Given the description of an element on the screen output the (x, y) to click on. 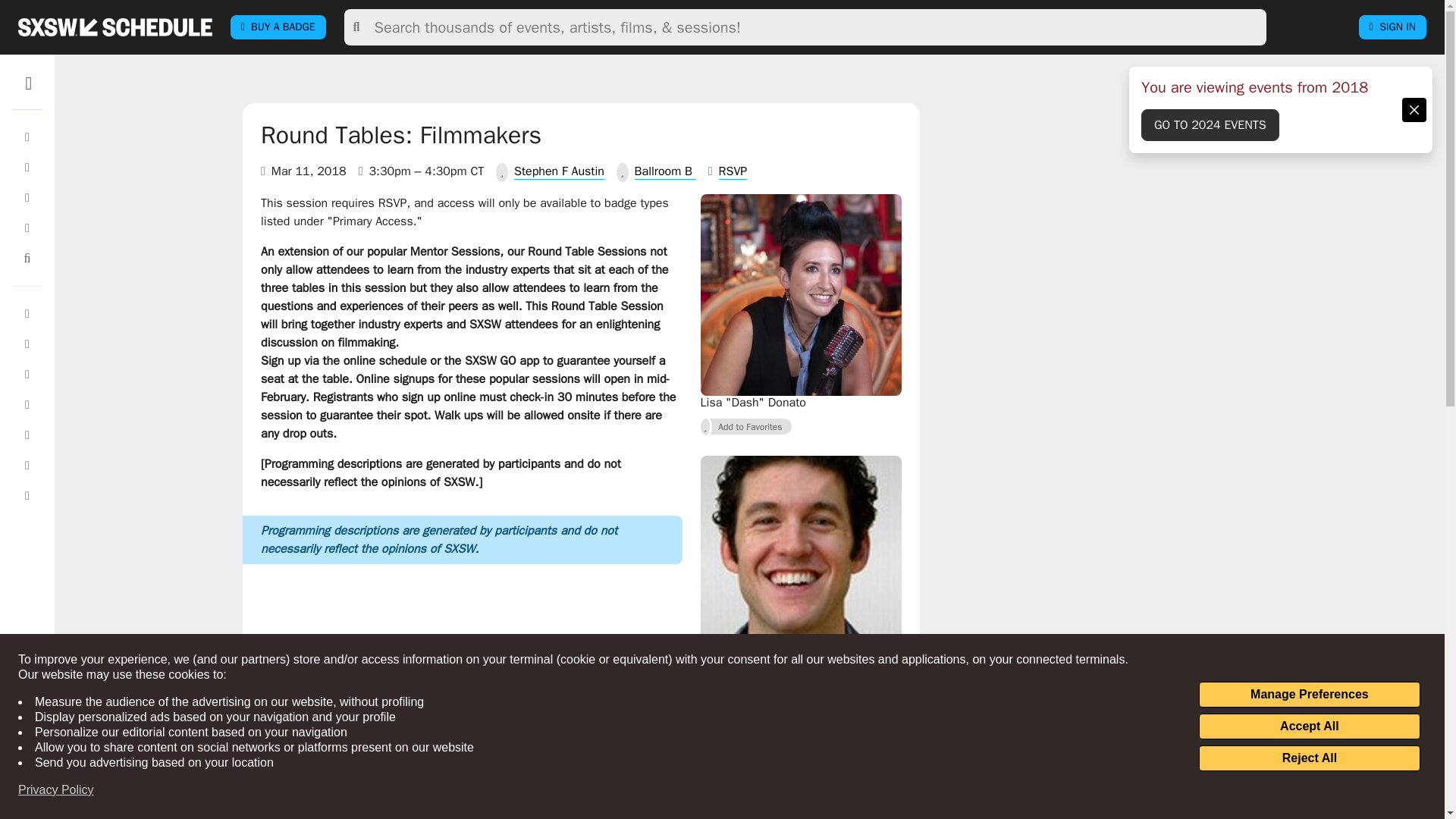
sxsw SCHEDULE (114, 27)
GO TO 2024 EVENTS (1210, 124)
SIGN IN (1392, 27)
Reject All (1309, 758)
Accept All (1309, 726)
Sign In to add to your favorites. (746, 797)
Sign In to add to your favorites. (746, 426)
Sign In to add to your favorites. (746, 703)
Manage Preferences (1309, 694)
Privacy Policy (55, 789)
BUY A BADGE (278, 27)
